Given the description of an element on the screen output the (x, y) to click on. 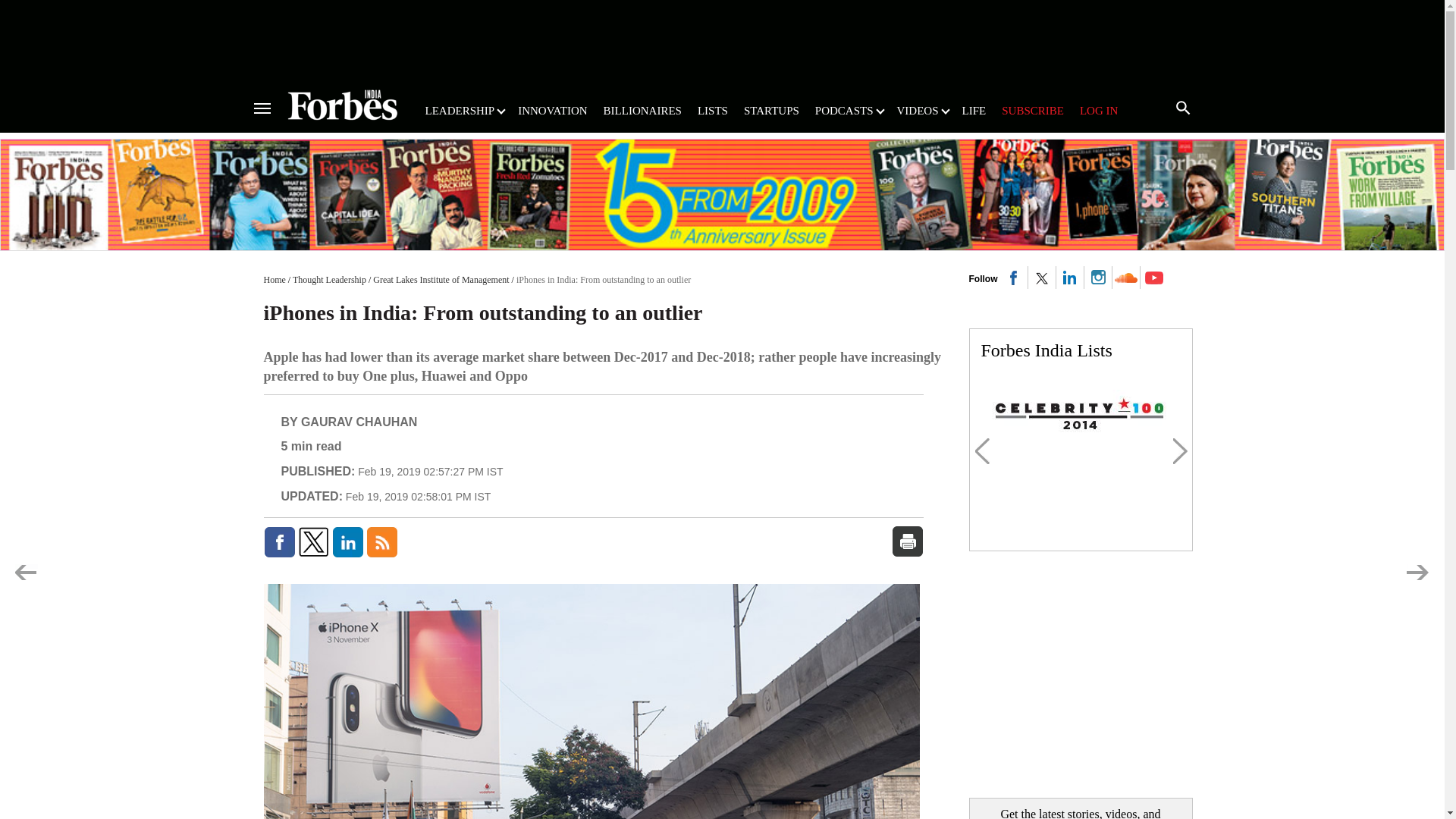
3rd party ad content (721, 39)
